Given the description of an element on the screen output the (x, y) to click on. 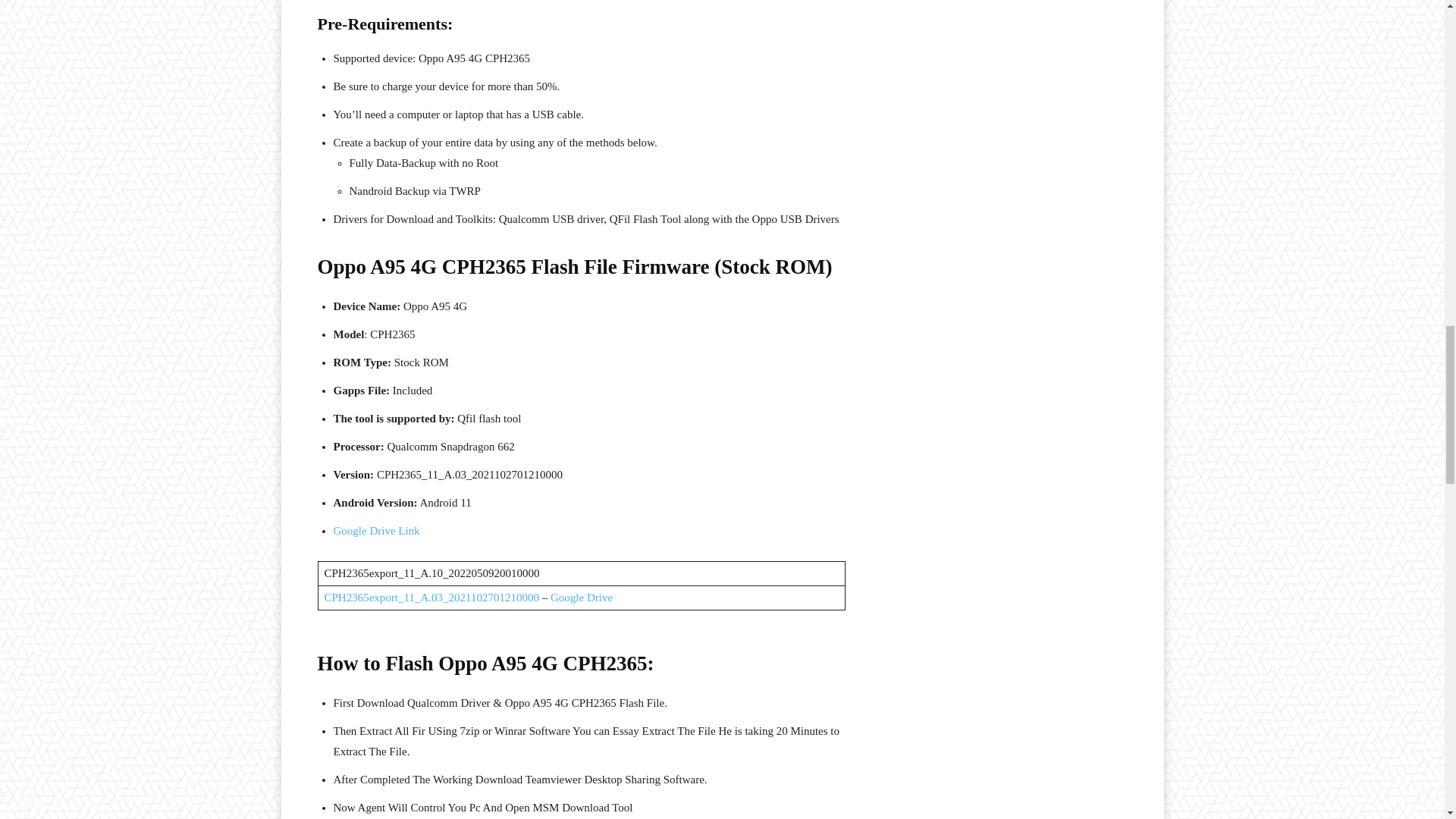
Google Drive Link (376, 530)
Google Drive (581, 597)
